Given the description of an element on the screen output the (x, y) to click on. 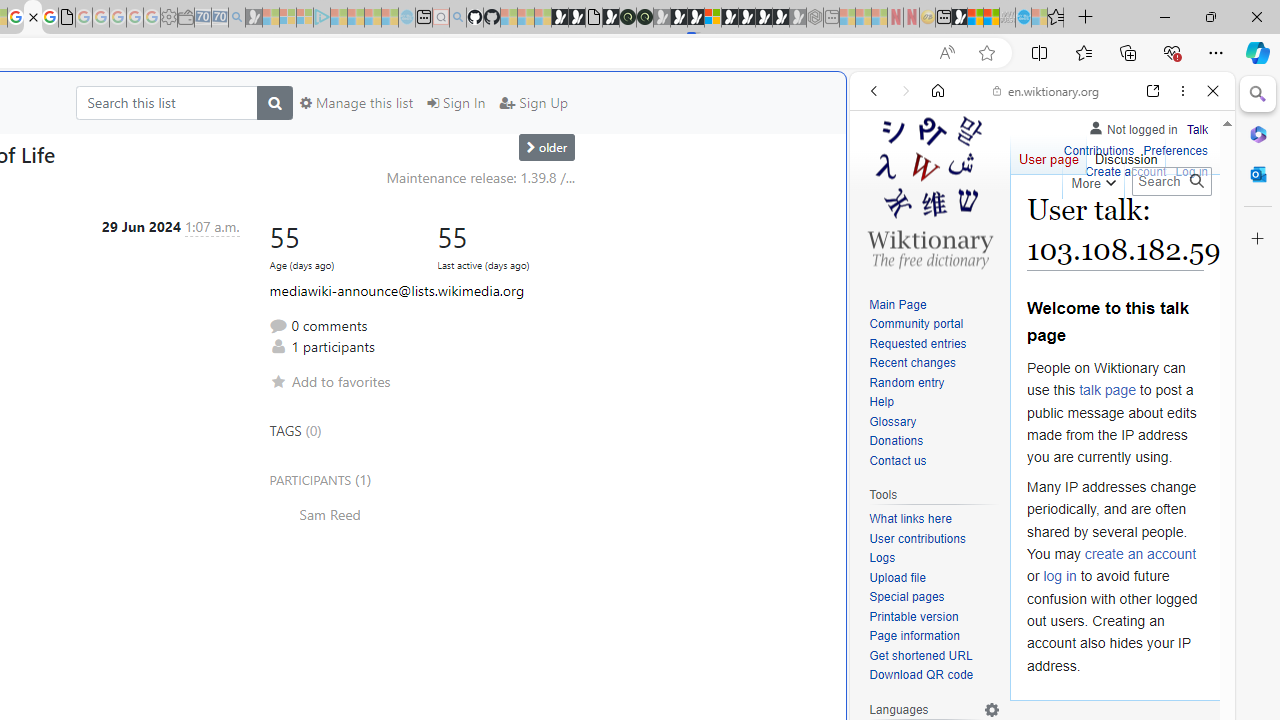
Recent changes (934, 363)
VIDEOS (1006, 228)
Search Wiktionary (1171, 181)
Sam Reed (421, 514)
Logs (934, 558)
Play Cave FRVR in your browser | Games from Microsoft Start (678, 17)
World - MSN (975, 17)
google_privacy_policy_zh-CN.pdf (66, 17)
Special pages (934, 597)
Printable version (913, 616)
